Given the description of an element on the screen output the (x, y) to click on. 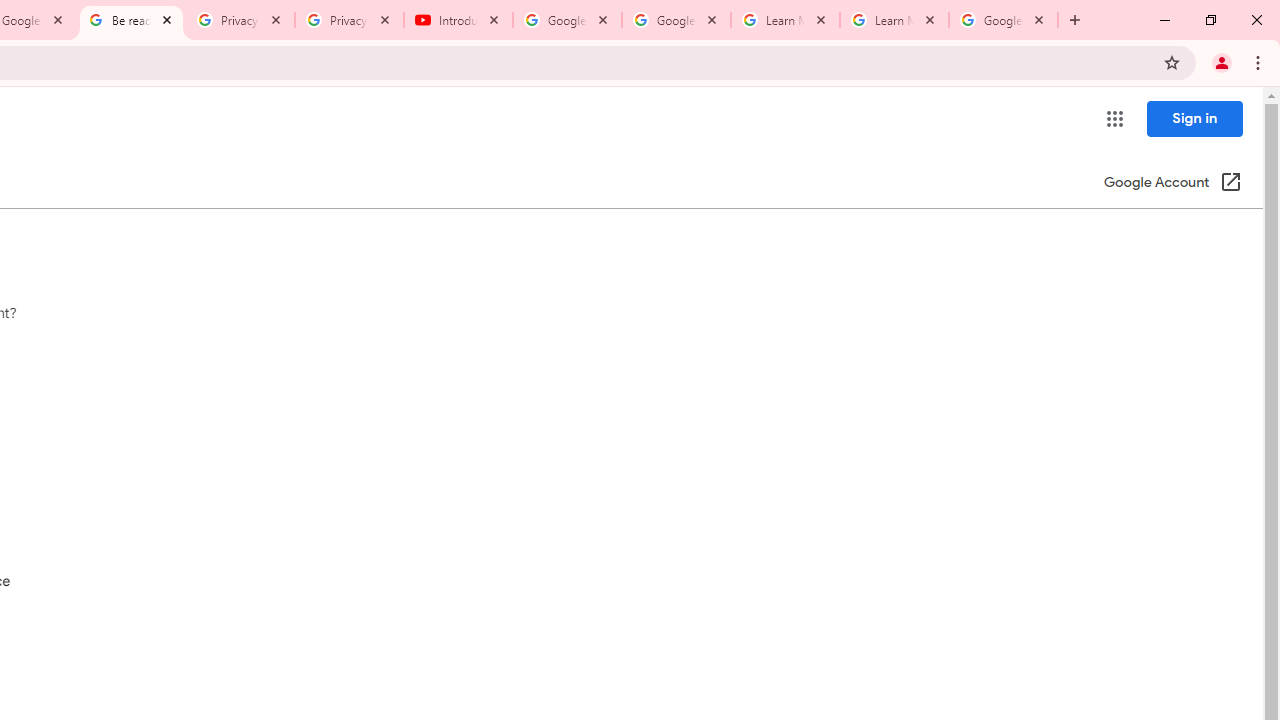
Google Account (Open in a new window) (1172, 183)
Be ready to find a lost Android device - Google Account Help (130, 20)
Introduction | Google Privacy Policy - YouTube (458, 20)
Sign in (1194, 118)
Google Account Help (676, 20)
Google Account (1003, 20)
Google Account Help (567, 20)
